Given the description of an element on the screen output the (x, y) to click on. 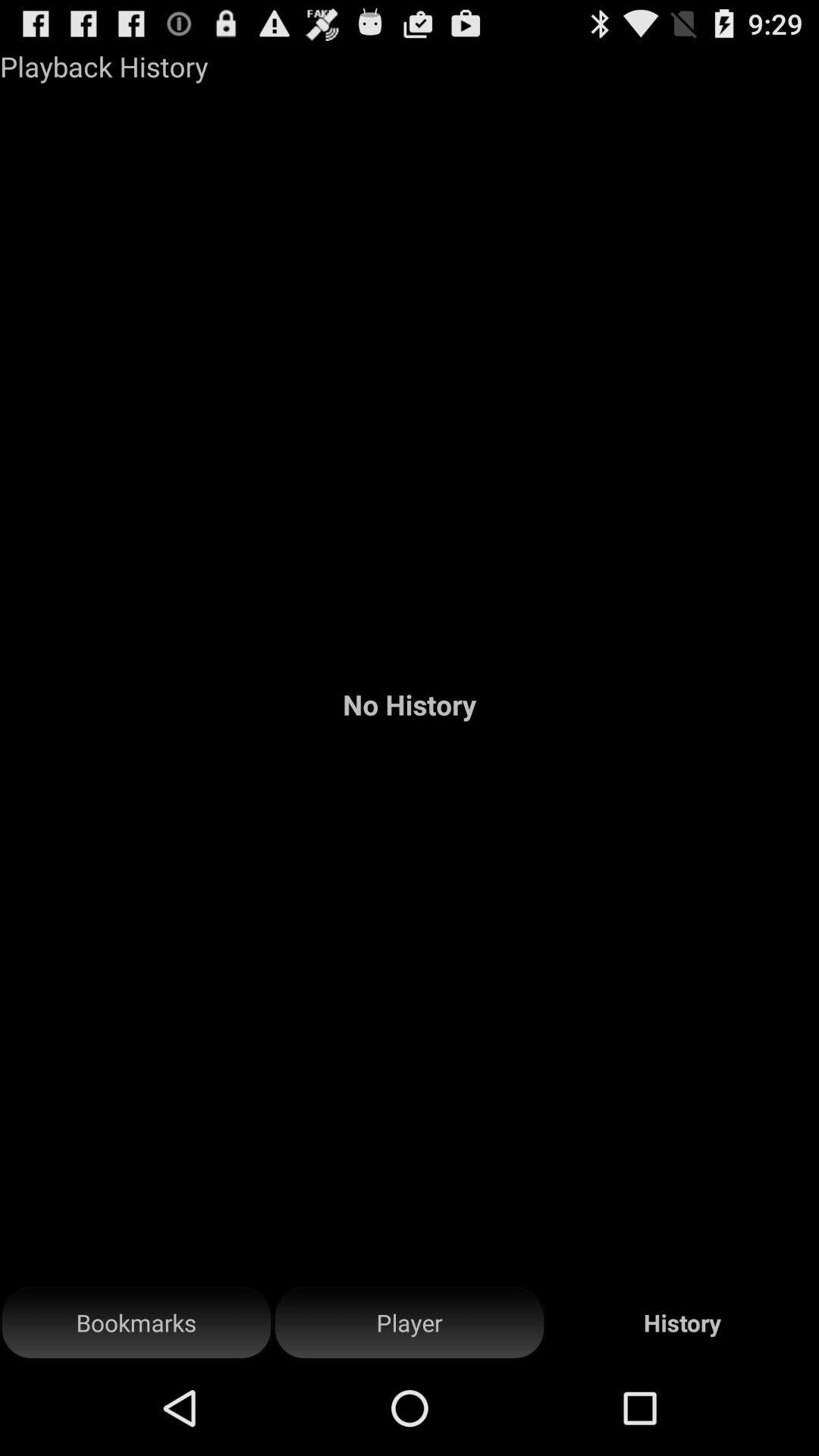
turn off the player button (409, 1323)
